Given the description of an element on the screen output the (x, y) to click on. 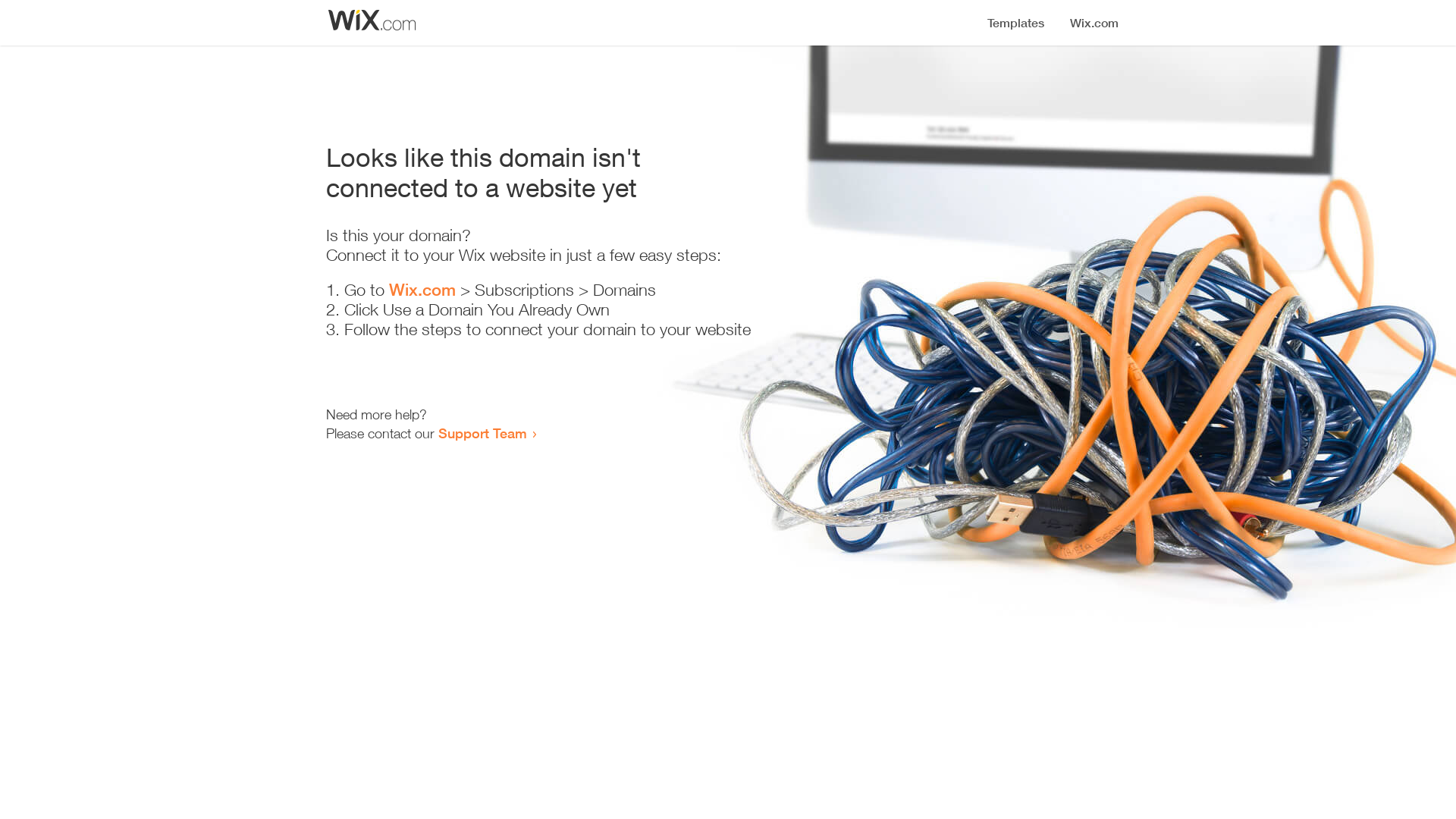
Wix.com Element type: text (422, 289)
Support Team Element type: text (482, 432)
